Given the description of an element on the screen output the (x, y) to click on. 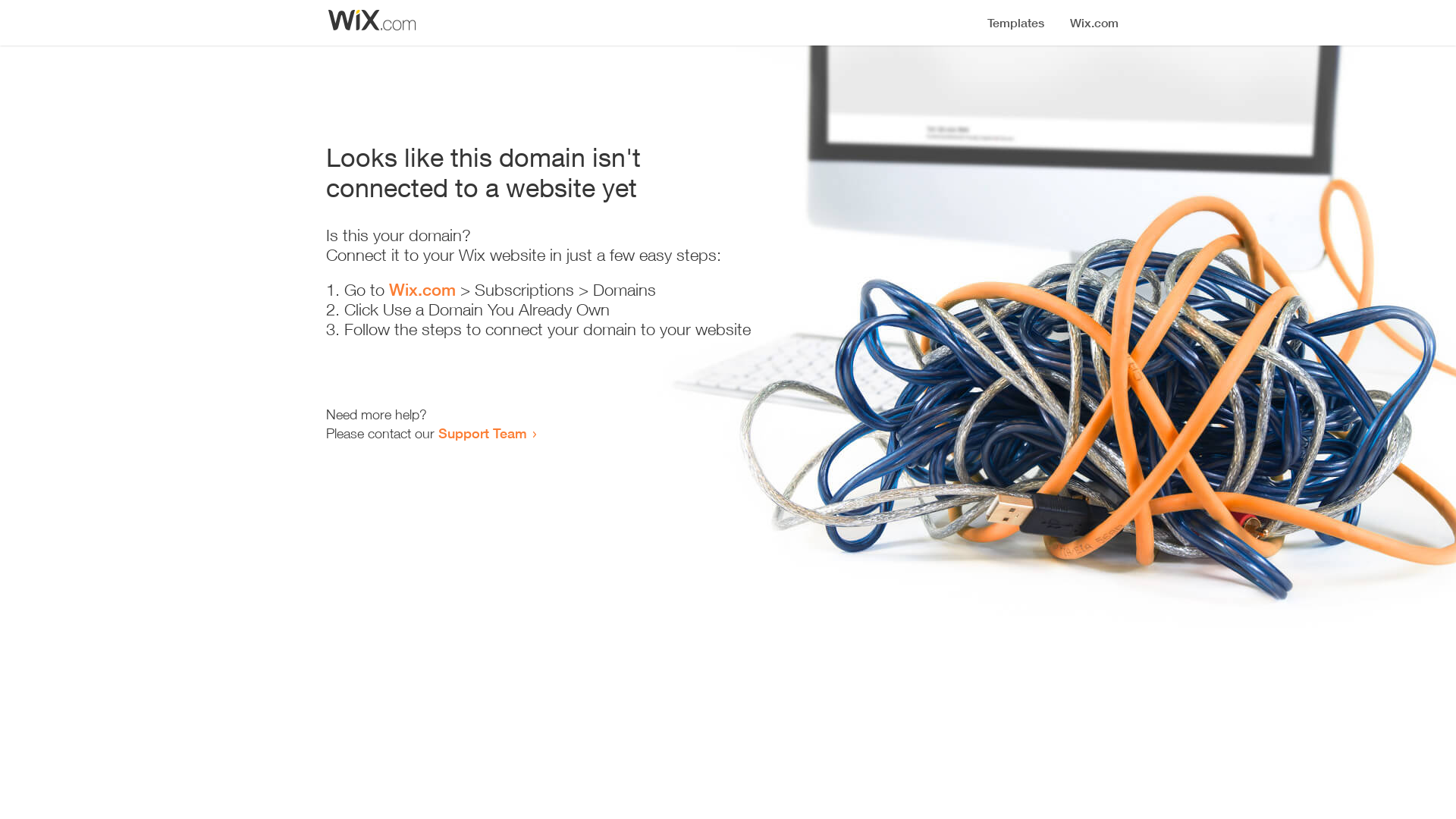
Wix.com Element type: text (422, 289)
Support Team Element type: text (482, 432)
